Given the description of an element on the screen output the (x, y) to click on. 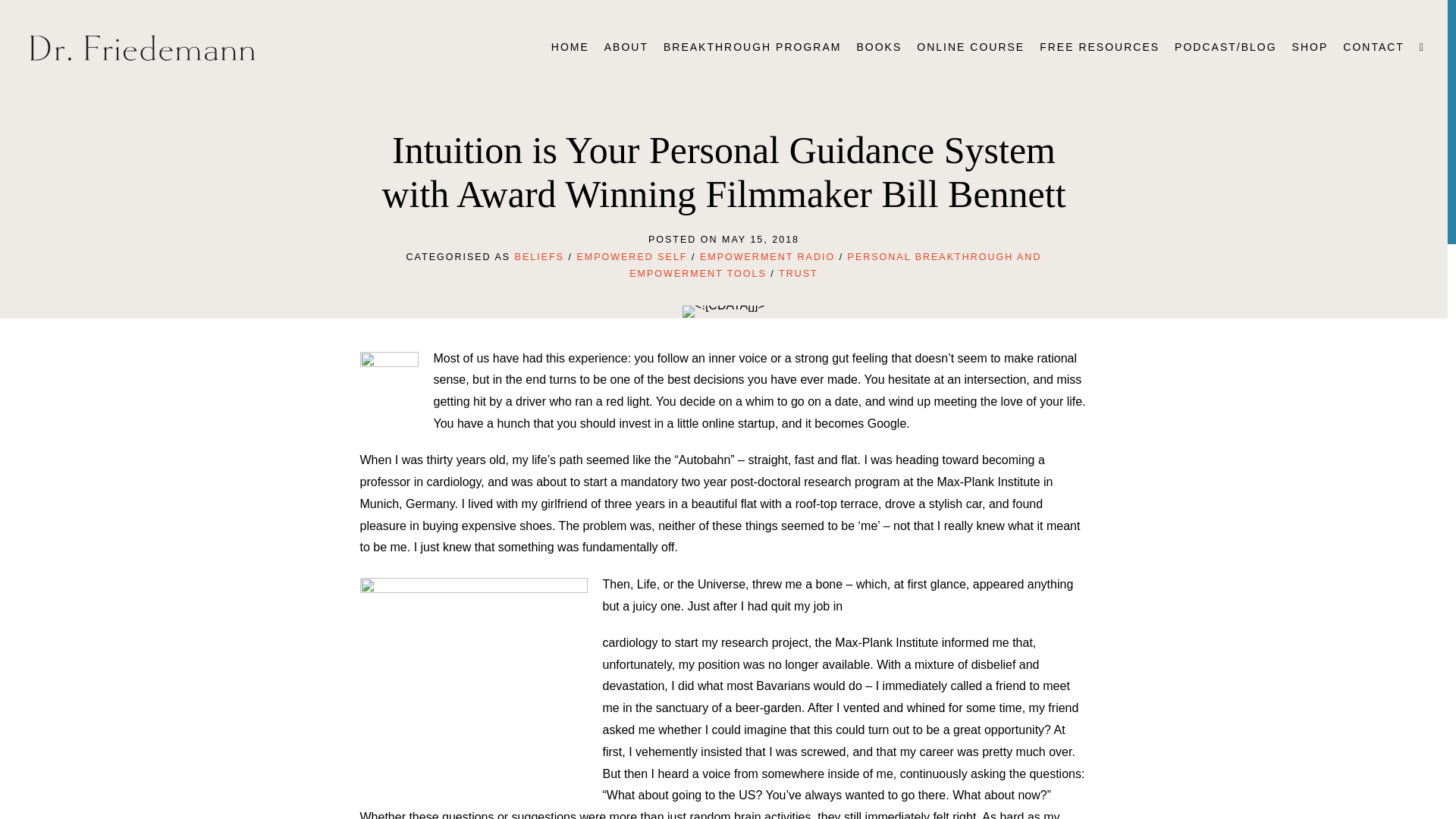
BREAKTHROUGH PROGRAM (752, 47)
ONLINE COURSE (970, 47)
ABOUT (626, 47)
CONTACT (1373, 47)
Dr Friedemann logo (142, 47)
BELIEFS (539, 256)
EMPOWERED SELF (631, 256)
PERSONAL BREAKTHROUGH AND EMPOWERMENT TOOLS (834, 265)
EMPOWERMENT RADIO (767, 256)
TRUST (798, 273)
HOME (569, 47)
BOOKS (878, 47)
FREE RESOURCES (1099, 47)
SHOP (1310, 47)
MoneyMindset02 (723, 310)
